Given the description of an element on the screen output the (x, y) to click on. 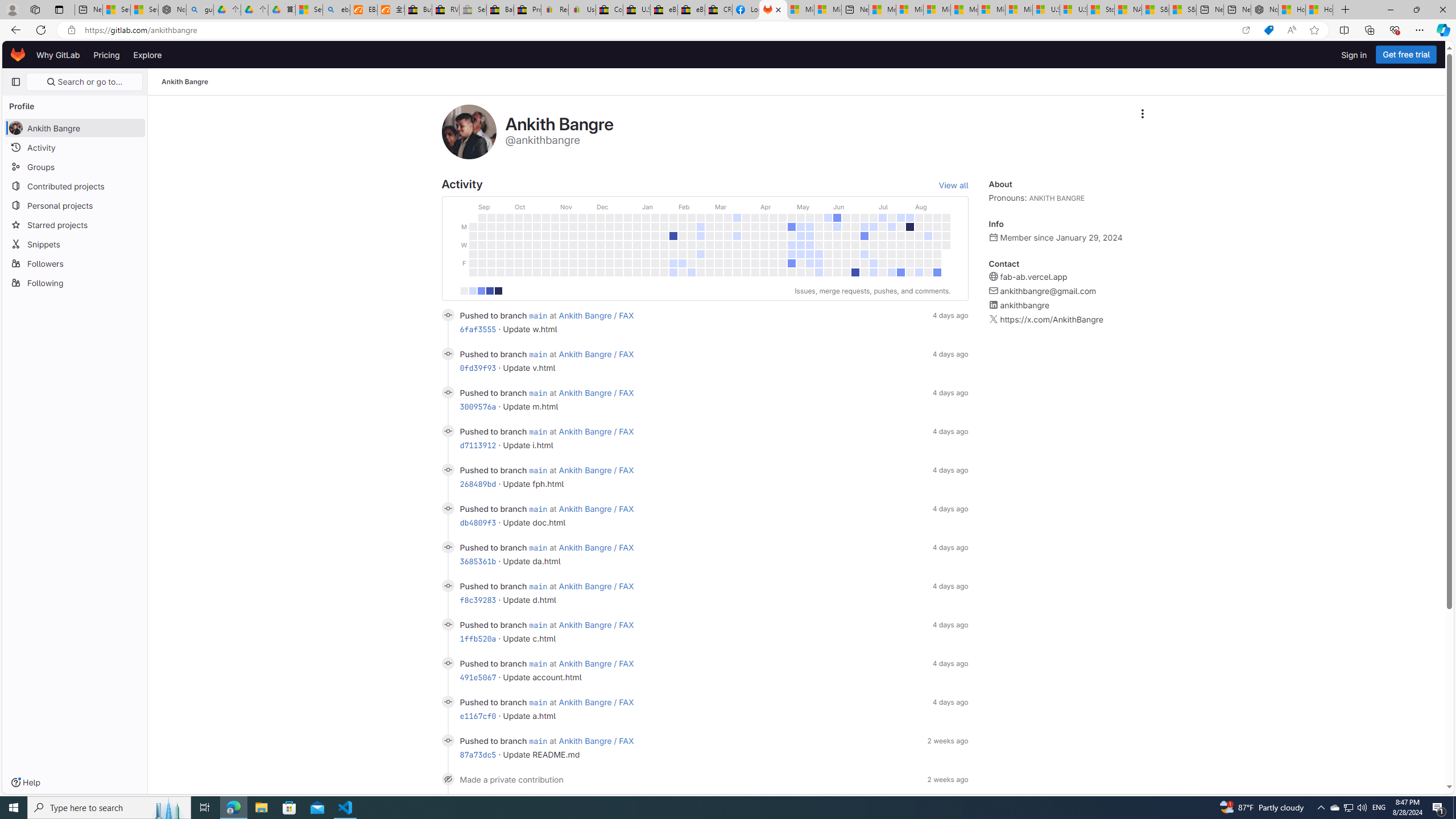
f8c39283 (478, 599)
Pricing (106, 54)
Contributed projects (74, 185)
3685361b (478, 561)
